Given the description of an element on the screen output the (x, y) to click on. 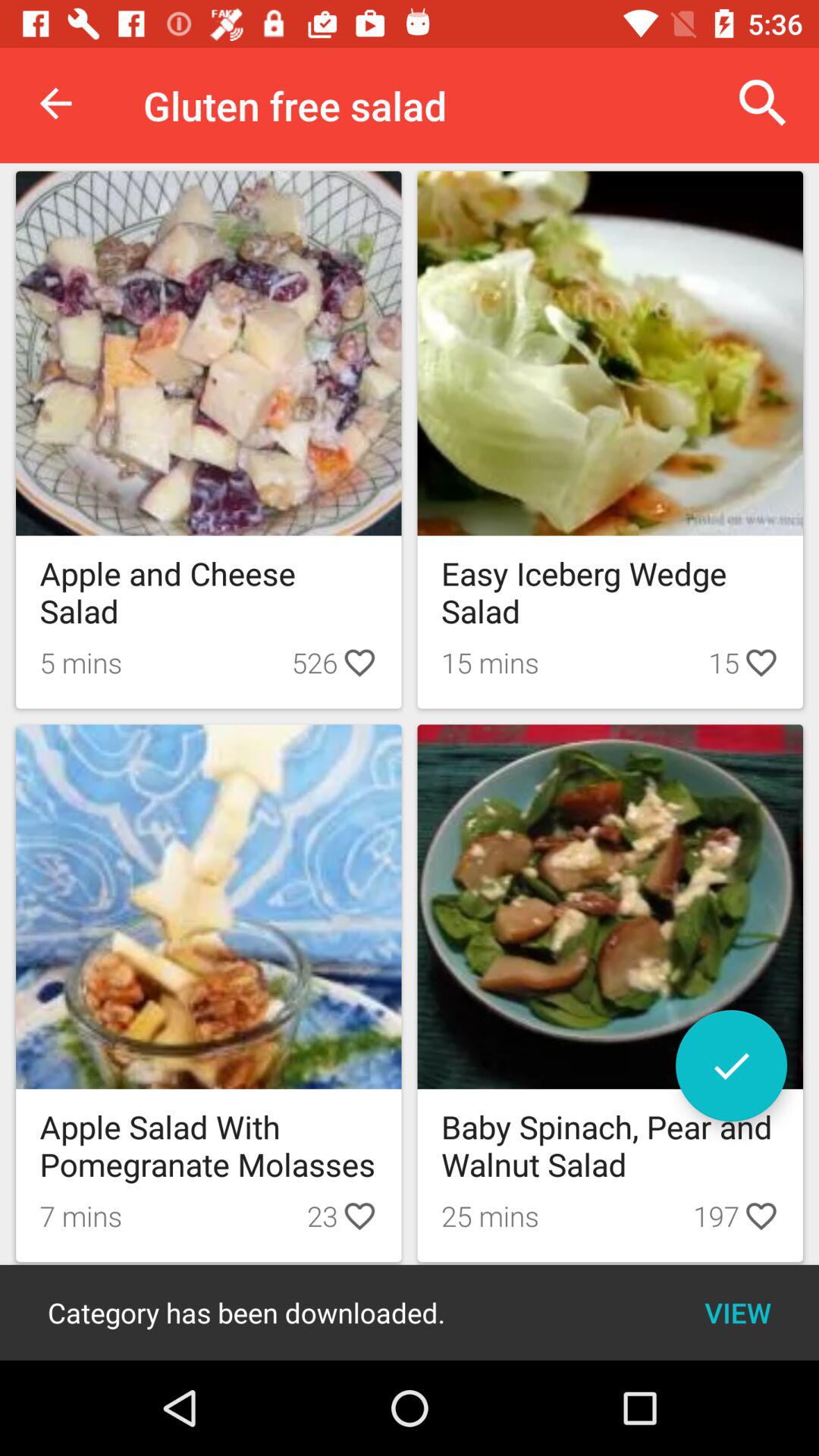
click the icon next to gluten free salad item (55, 103)
